Given the description of an element on the screen output the (x, y) to click on. 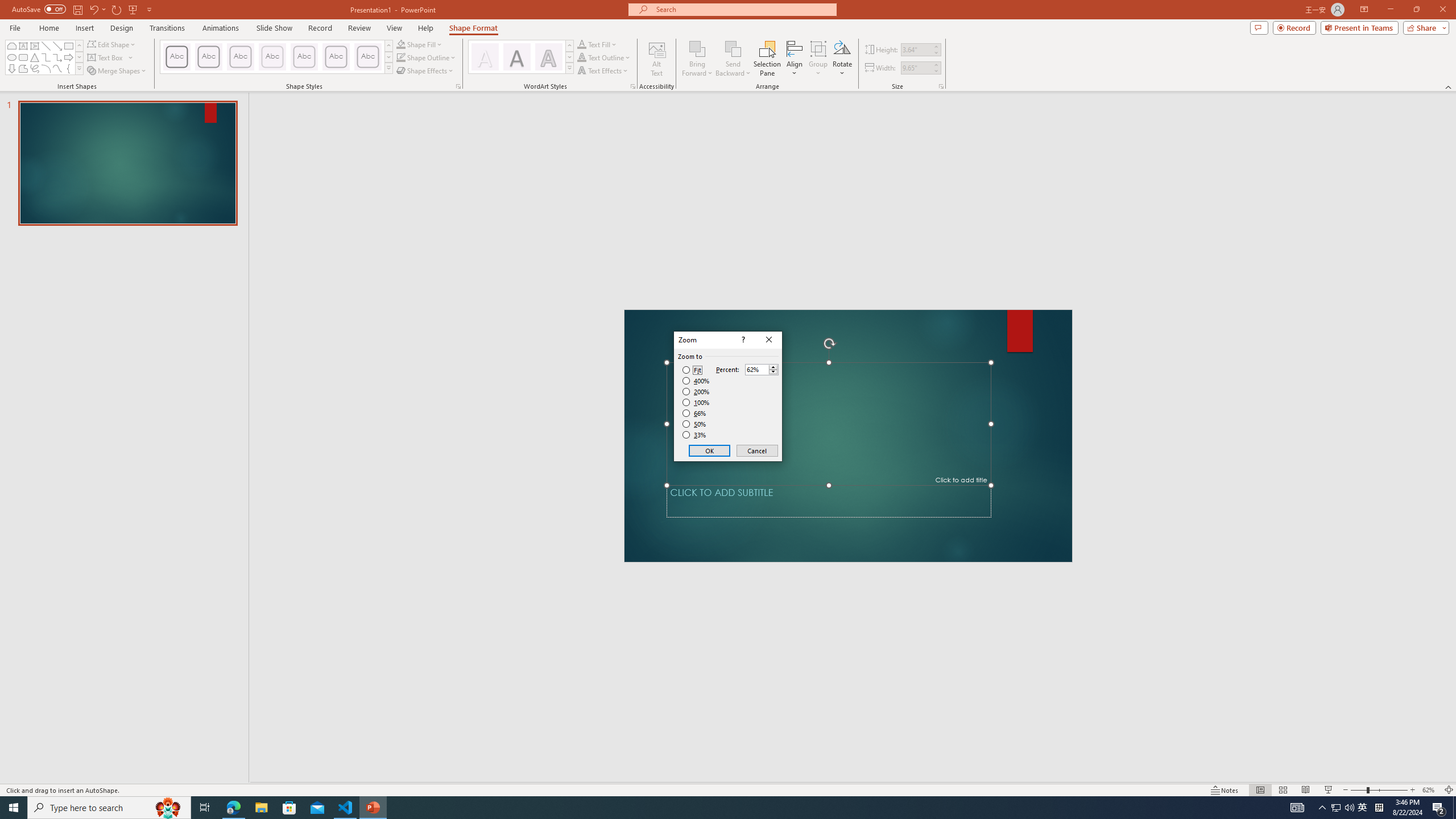
Format Text Effects... (632, 85)
Shape Height (915, 49)
AutomationID: TextStylesGallery (521, 56)
Text Fill (596, 44)
Send Backward (733, 58)
Text Effects (603, 69)
Draw Horizontal Text Box (105, 56)
Colored Outline - Gold, Accent 3 (272, 56)
